Given the description of an element on the screen output the (x, y) to click on. 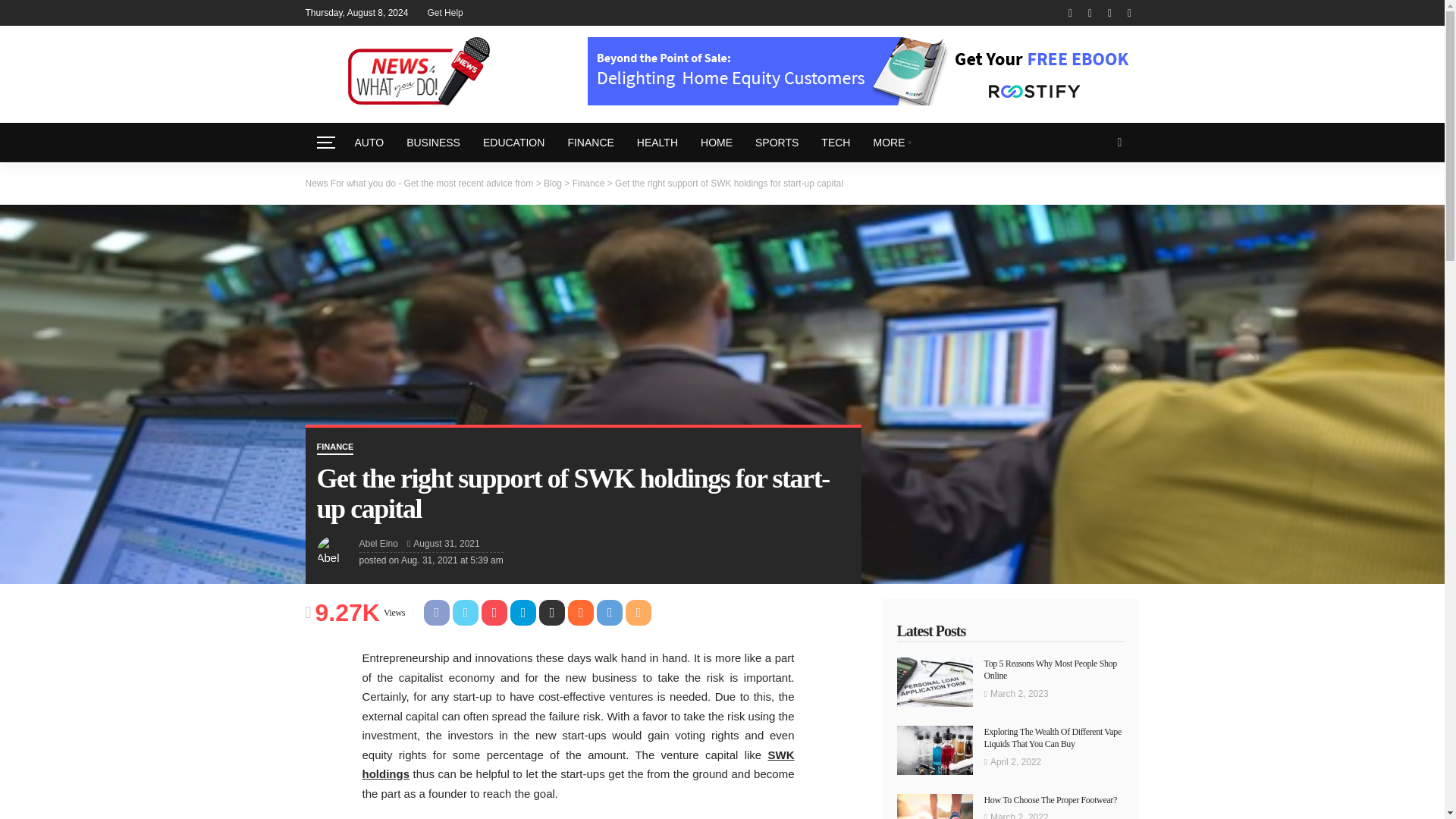
Finance (588, 182)
AUTO (368, 142)
Finance (335, 449)
MORE (891, 142)
Blog (552, 182)
Go to the Finance Category archives. (588, 182)
Get Help (444, 12)
HEALTH (657, 142)
TECH (835, 142)
FINANCE (590, 142)
BUSINESS (432, 142)
News For what you do - Get the most recent advice from (418, 182)
HOME (716, 142)
search (1118, 142)
